Given the description of an element on the screen output the (x, y) to click on. 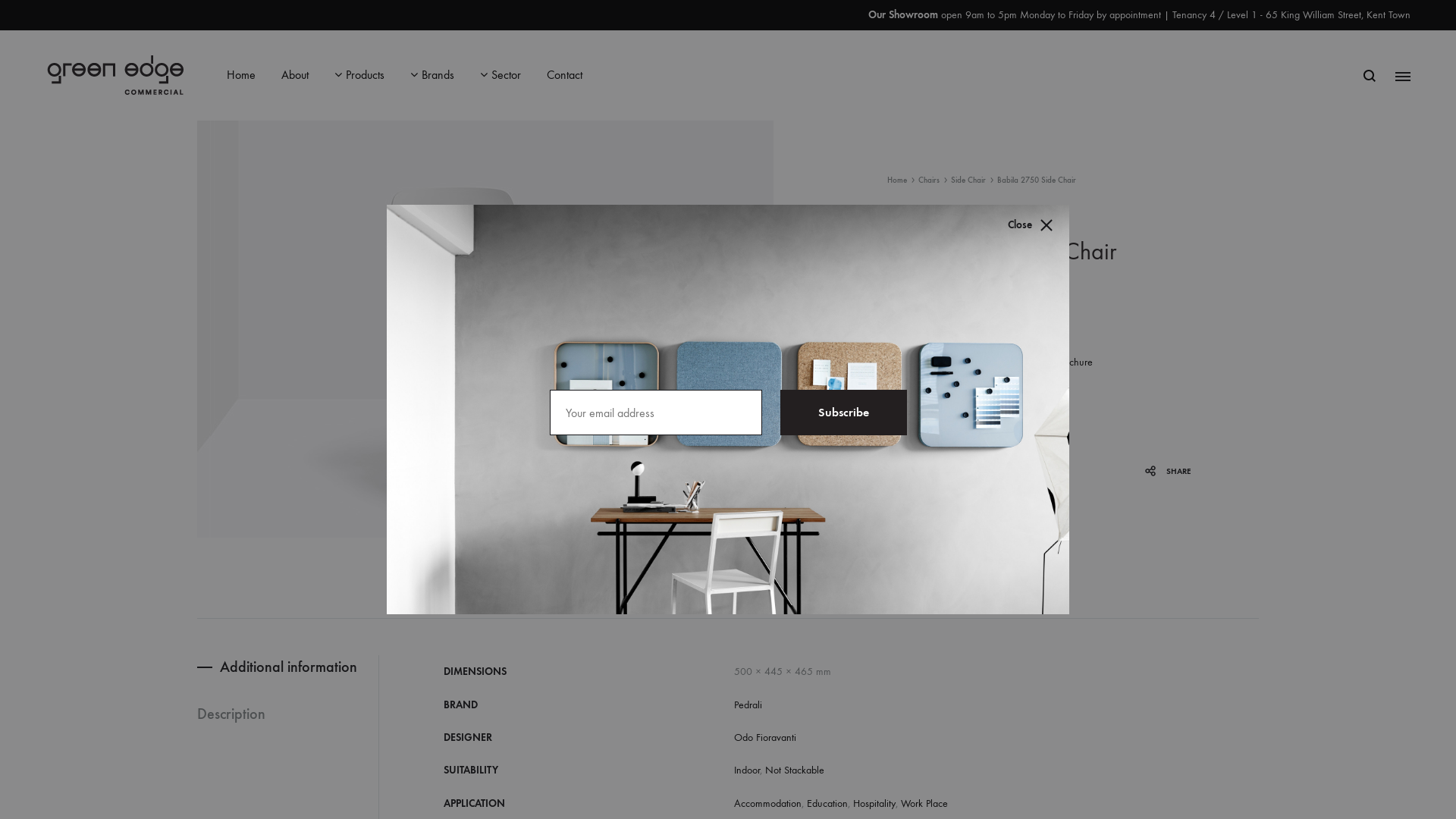
Home Element type: text (896, 180)
Accommodation Element type: text (767, 803)
Pedrali Element type: text (748, 704)
Home Element type: text (240, 74)
ADD TO QUOTE Element type: text (953, 451)
About Element type: text (294, 74)
SIDE CHAIR Element type: text (1000, 554)
Qty Element type: hover (937, 413)
Indoor Element type: text (746, 769)
Not Stackable Element type: text (794, 769)
Download Brochure Element type: text (1050, 360)
Description Element type: text (264, 713)
Side Chair Element type: text (967, 180)
Subscribe Element type: text (842, 412)
Education Element type: text (826, 803)
Products Element type: text (359, 74)
CHAIRS Element type: text (961, 554)
Sector Element type: text (500, 74)
Brands Element type: text (432, 74)
Odo Fioravanti Element type: text (765, 737)
GE-Product-Image-16 Element type: hover (485, 328)
Hospitality Element type: text (874, 803)
Additional information Element type: text (287, 666)
Work Place Element type: text (923, 803)
Contact Element type: text (564, 74)
Chairs Element type: text (928, 180)
